Given the description of an element on the screen output the (x, y) to click on. 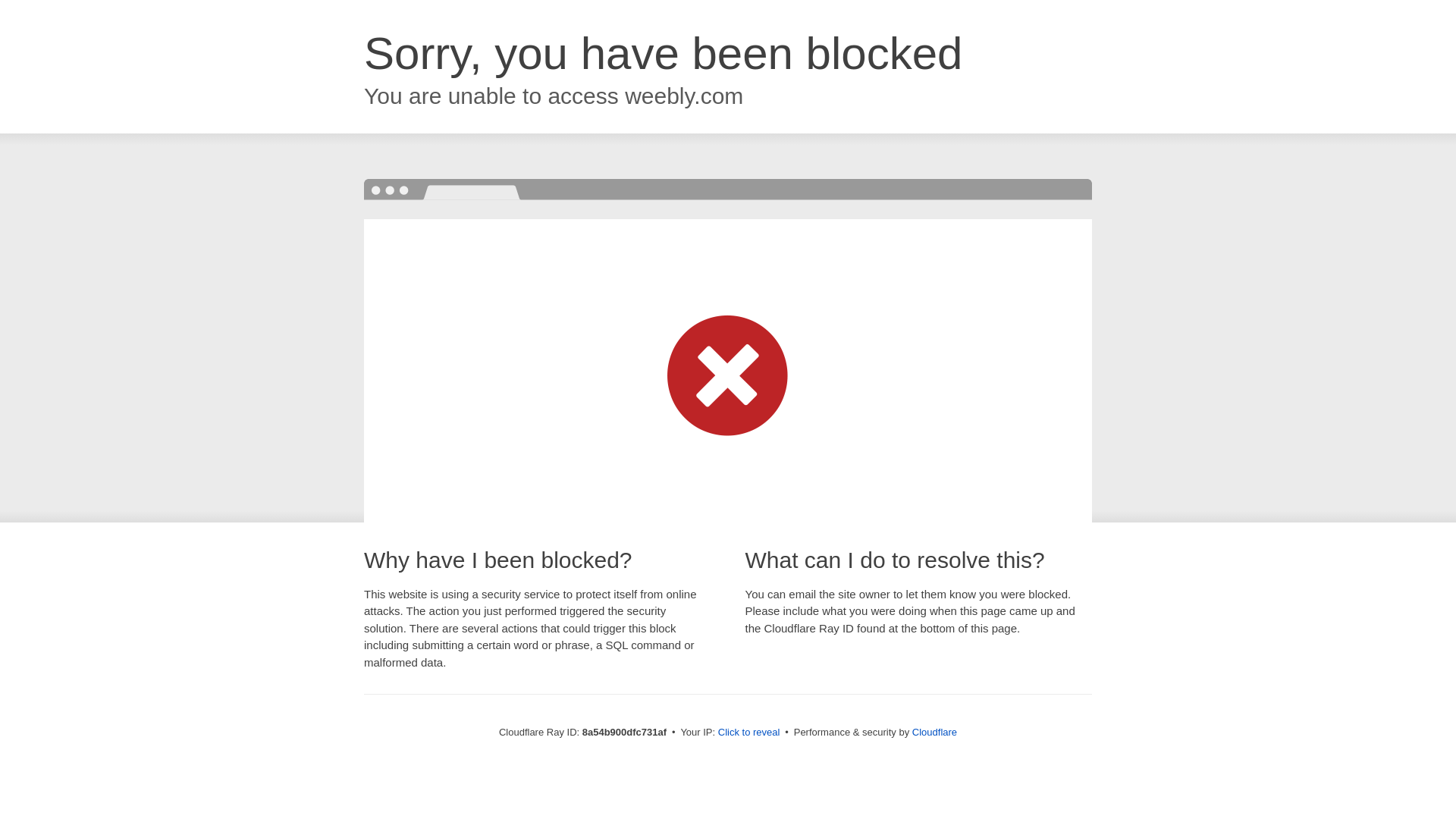
Cloudflare (934, 731)
Click to reveal (748, 732)
